Given the description of an element on the screen output the (x, y) to click on. 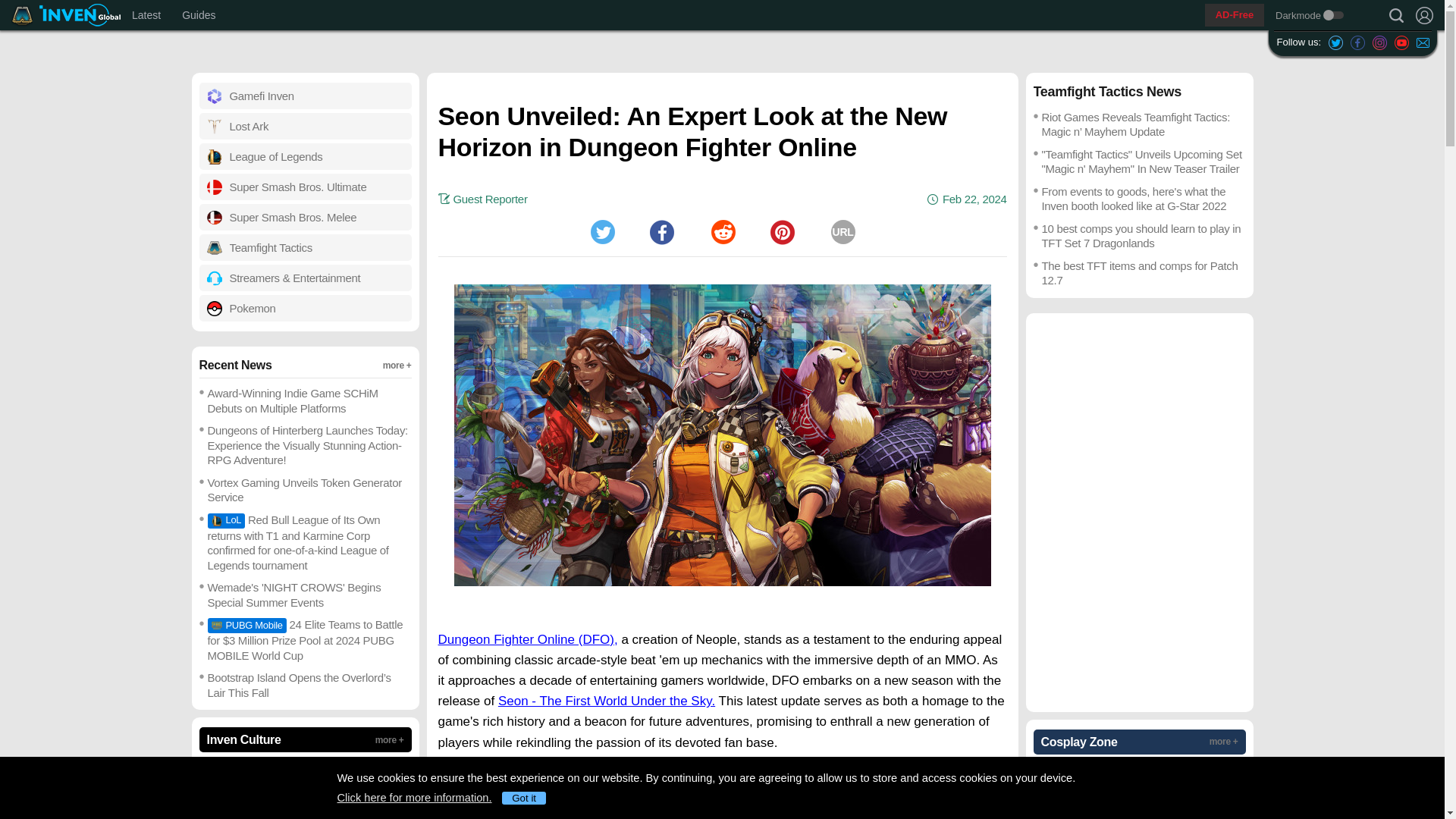
Seon - The First World Under the Sky. (605, 700)
Inven Global Twitter (1334, 42)
Inven Global Instagram (1380, 42)
search (173, 15)
URL Copy (1395, 15)
Guides (843, 232)
Reddit (198, 15)
Latest (721, 232)
Twitter (145, 15)
Tweet (601, 232)
Teamfight Tactics Inven (601, 232)
Inven Global Newsletter (25, 15)
Facebook (1422, 42)
Pinterest (661, 232)
